Given the description of an element on the screen output the (x, y) to click on. 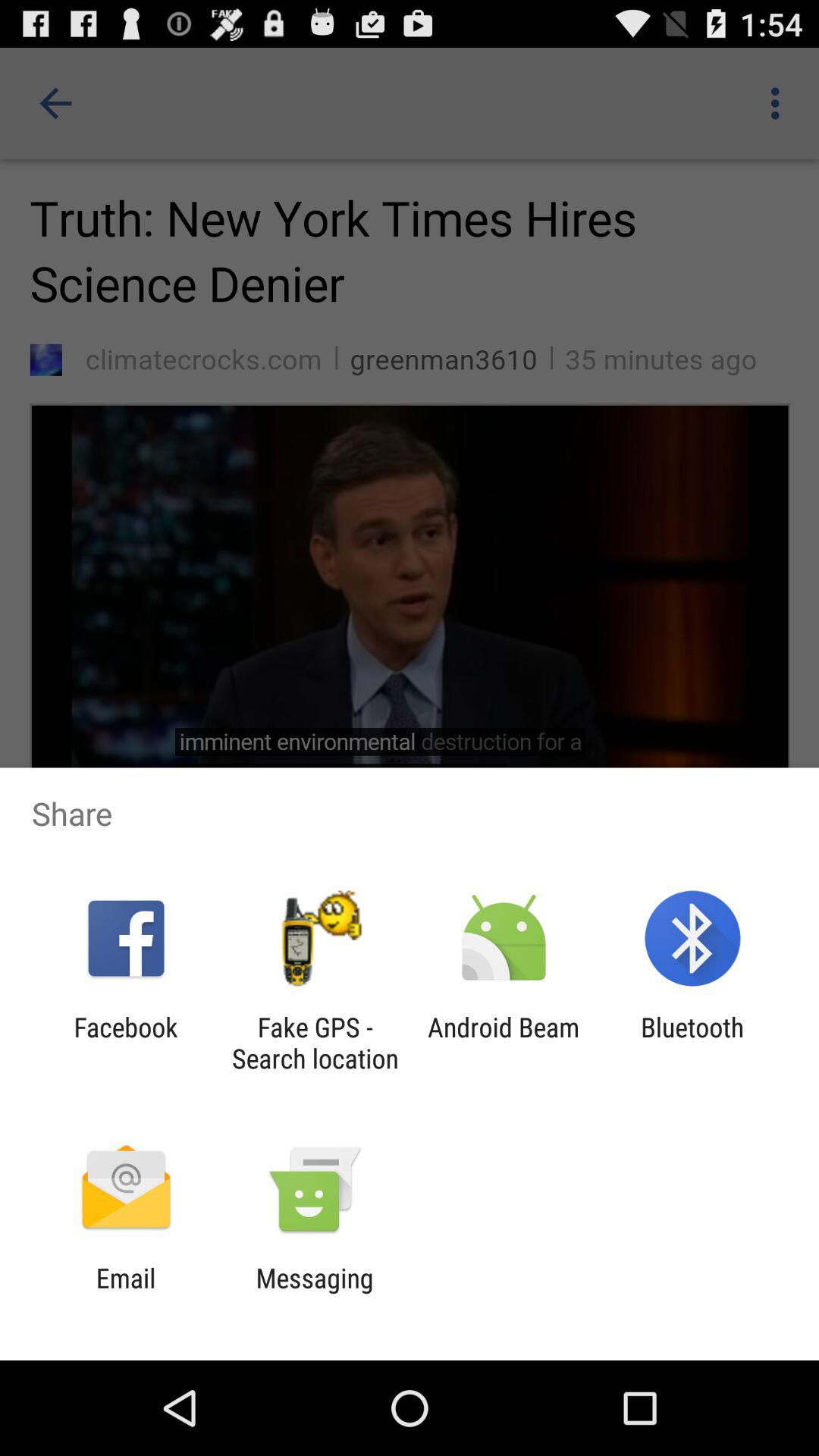
choose the item to the right of the android beam item (691, 1042)
